Given the description of an element on the screen output the (x, y) to click on. 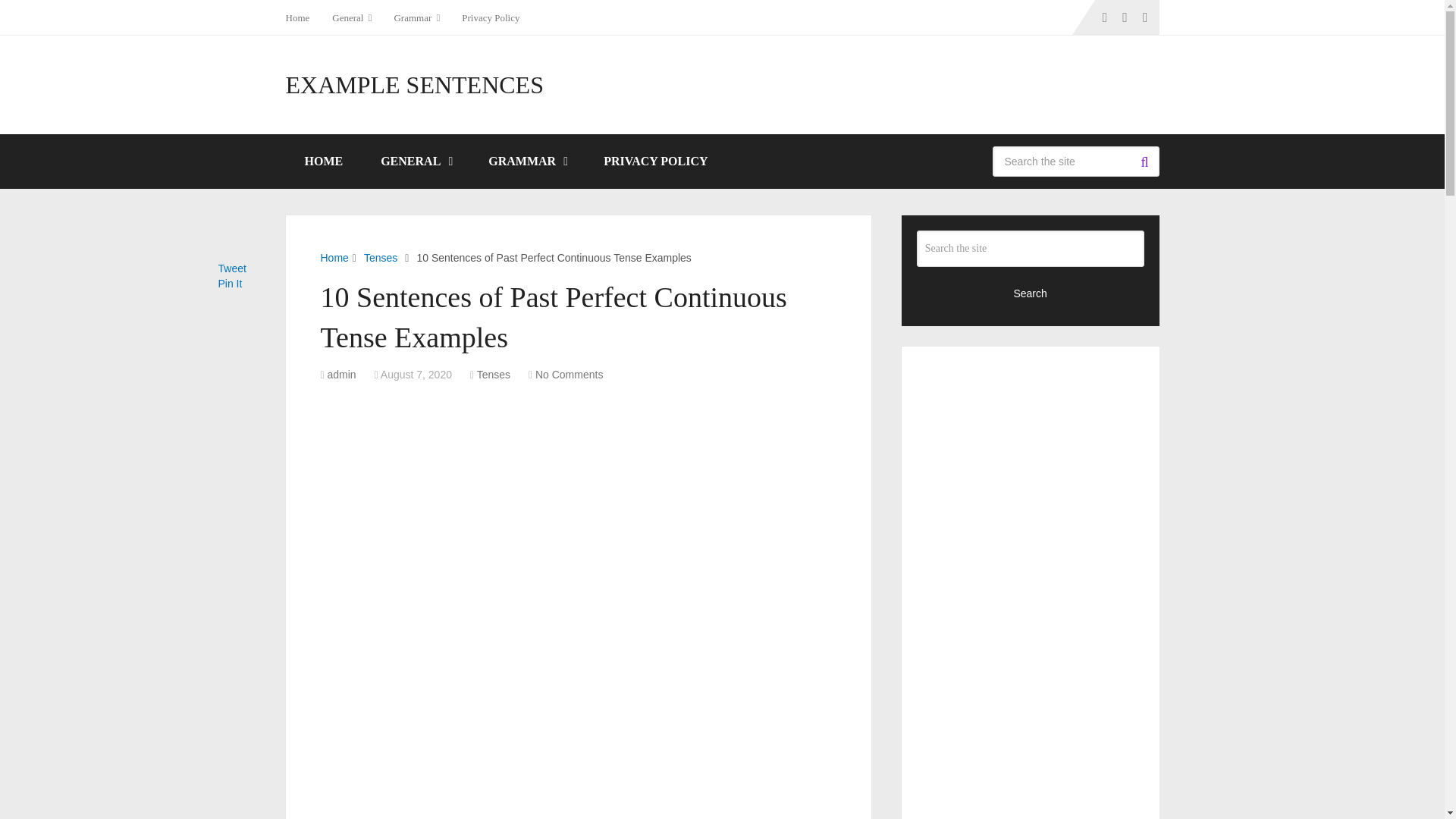
EXAMPLE SENTENCES (414, 84)
Advertisement (577, 718)
HOME (323, 161)
General (350, 17)
Home (302, 17)
View all posts in Tenses (494, 374)
Privacy Policy (490, 17)
Grammar (415, 17)
Advertisement (577, 504)
GENERAL (414, 161)
